Given the description of an element on the screen output the (x, y) to click on. 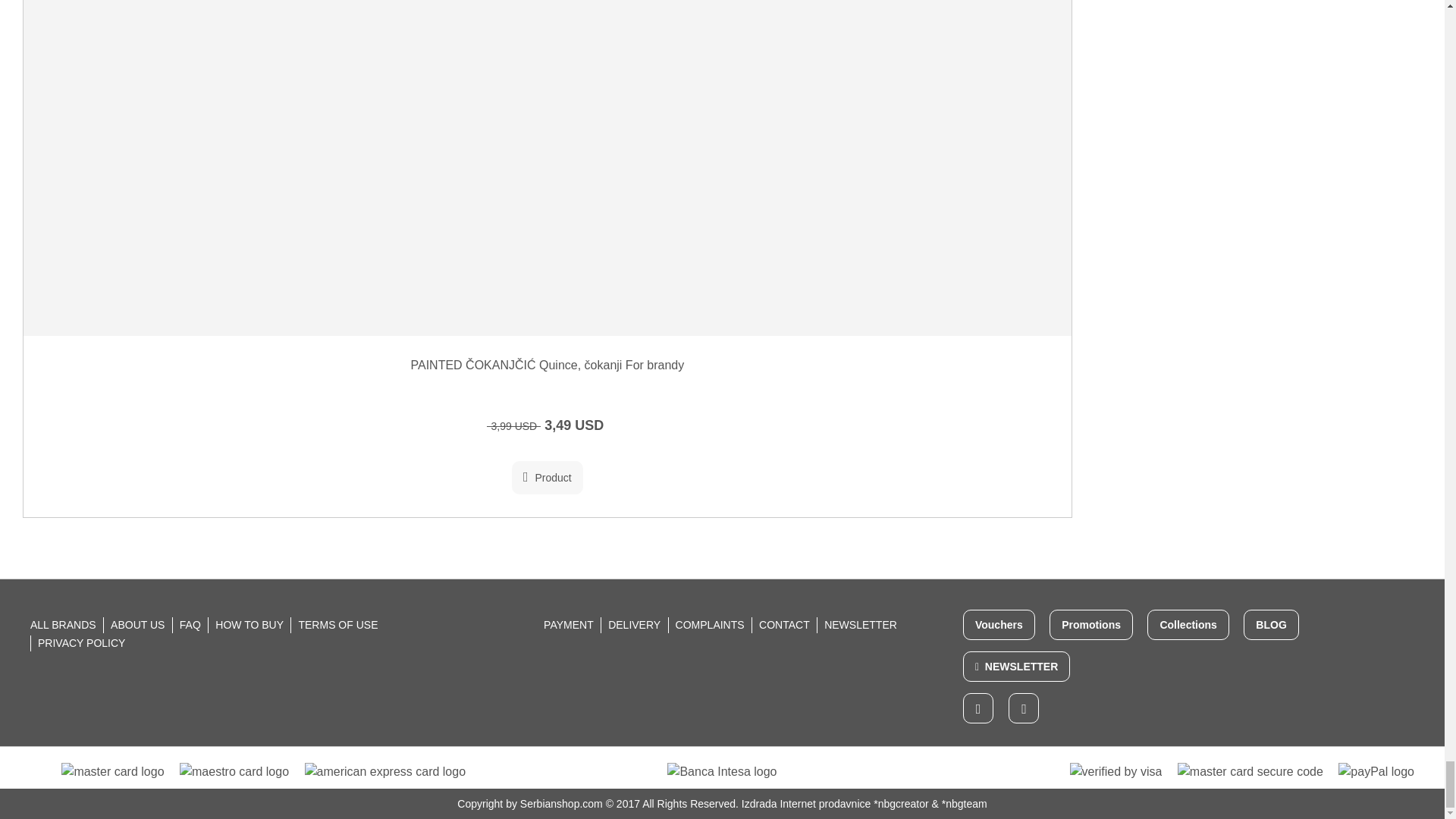
Agencija za digitalni marketing (900, 803)
Izdrada Internet prodavnice (805, 803)
Digitalni marketing (964, 803)
